Given the description of an element on the screen output the (x, y) to click on. 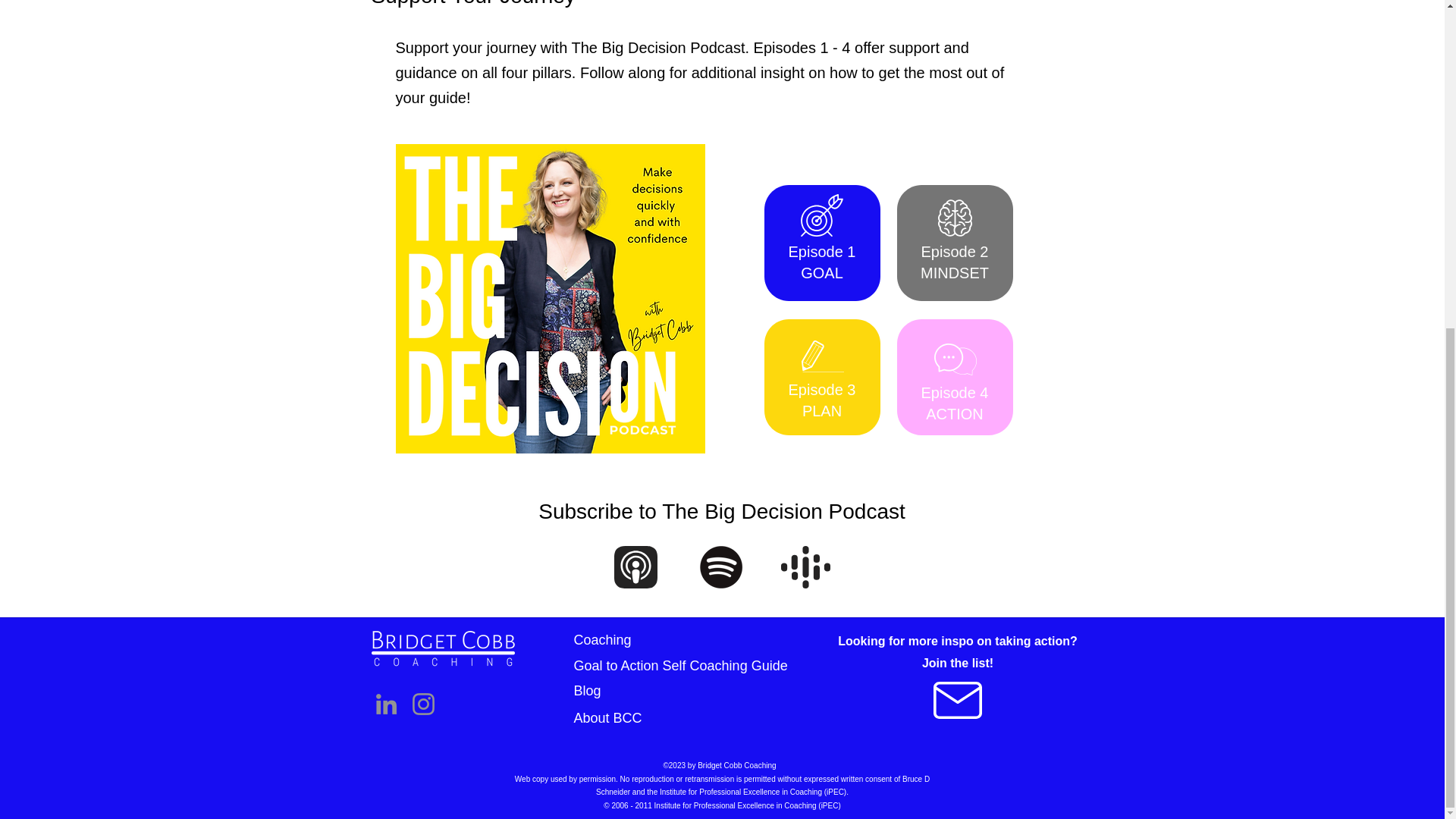
Spotify Logo (721, 567)
About BCC (607, 717)
Blog (586, 690)
Coaching (601, 639)
Goal to Action Self Coaching Guide (680, 665)
